Given the description of an element on the screen output the (x, y) to click on. 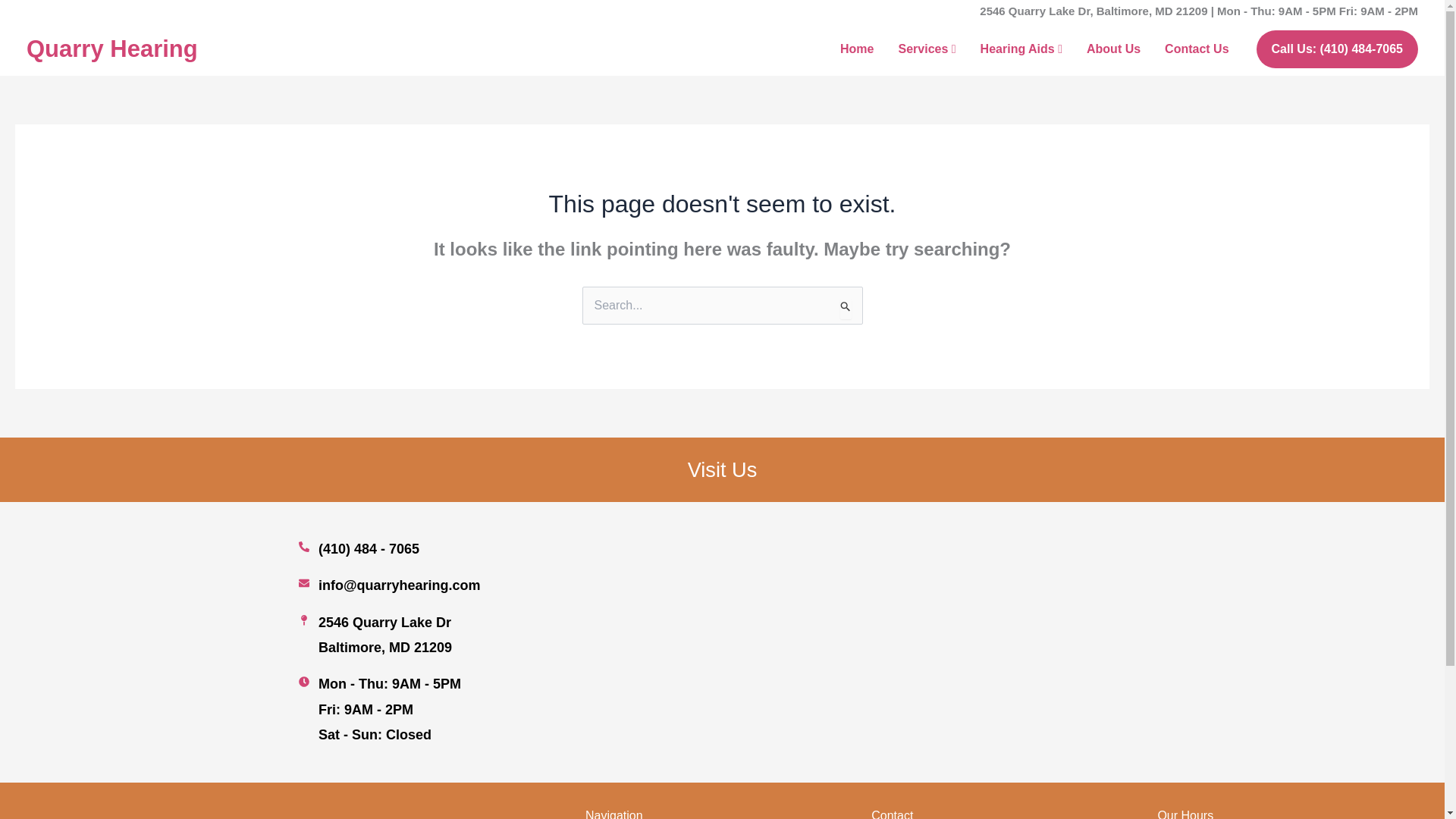
Contact Us (1196, 48)
Services (926, 48)
Quarry Hearing (112, 49)
Hearing Aids (1021, 48)
About Us (1113, 48)
Home (856, 48)
